Given the description of an element on the screen output the (x, y) to click on. 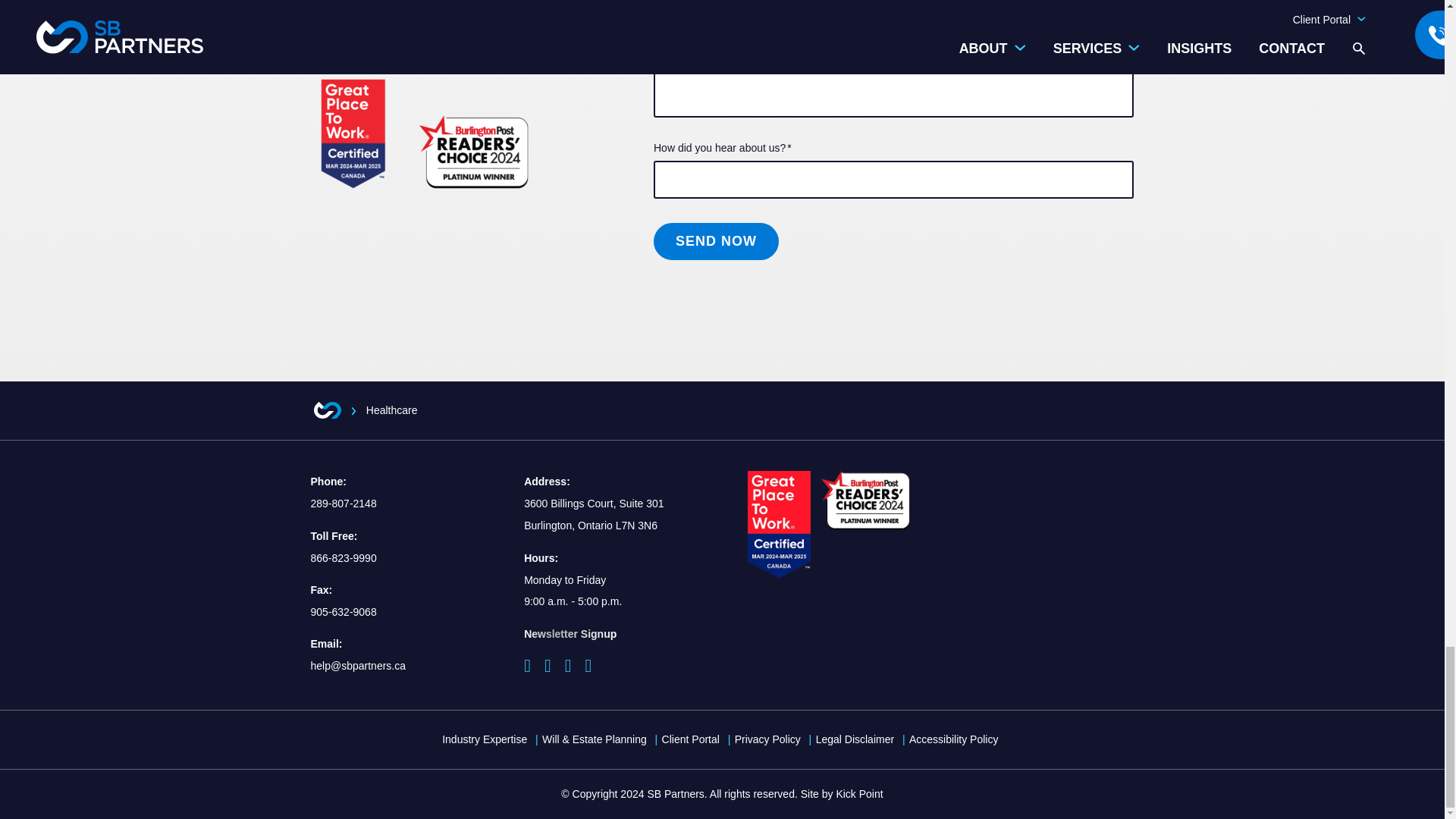
Send Now (715, 241)
